Given the description of an element on the screen output the (x, y) to click on. 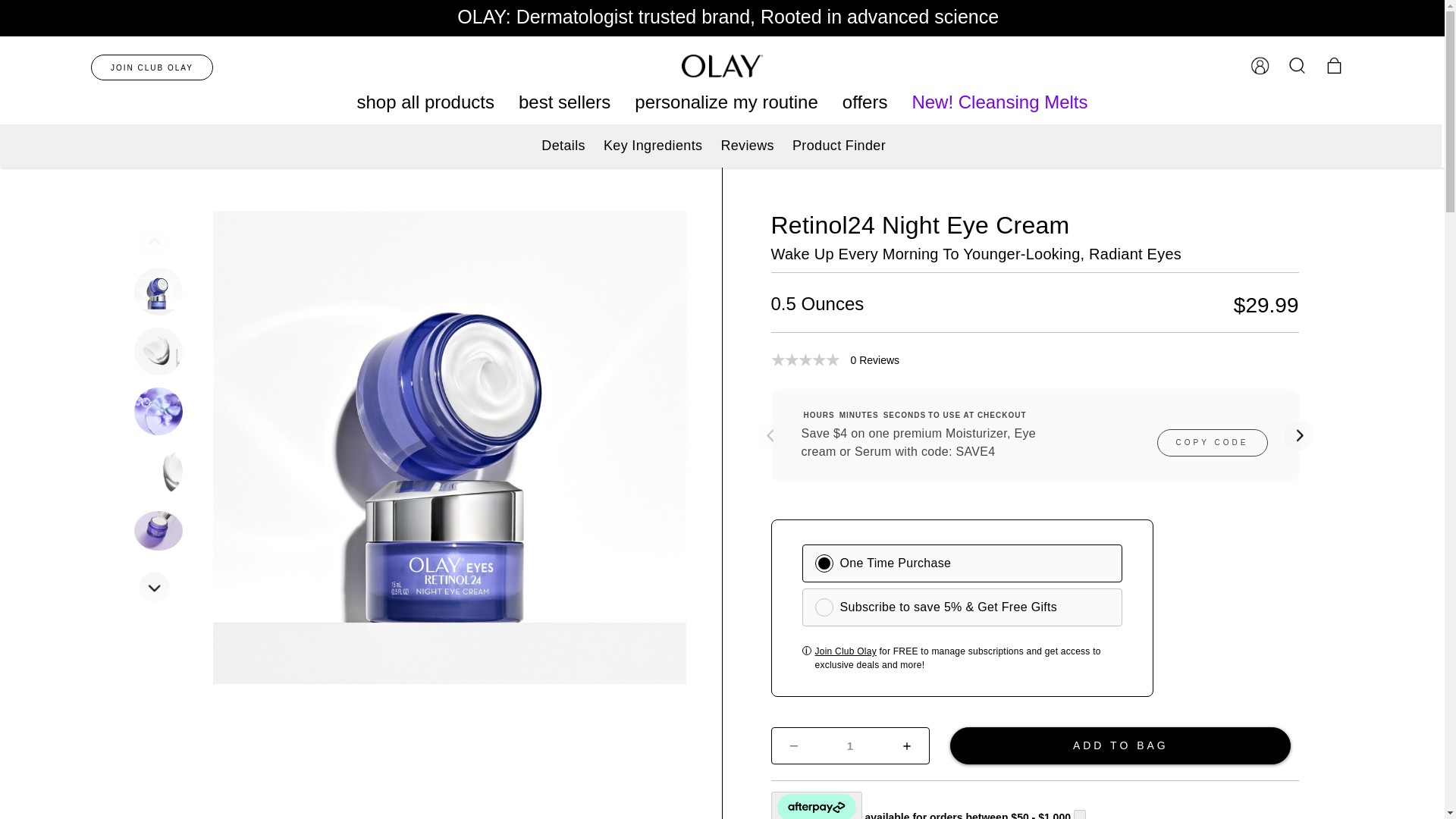
Add to Bag (1121, 745)
